Given the description of an element on the screen output the (x, y) to click on. 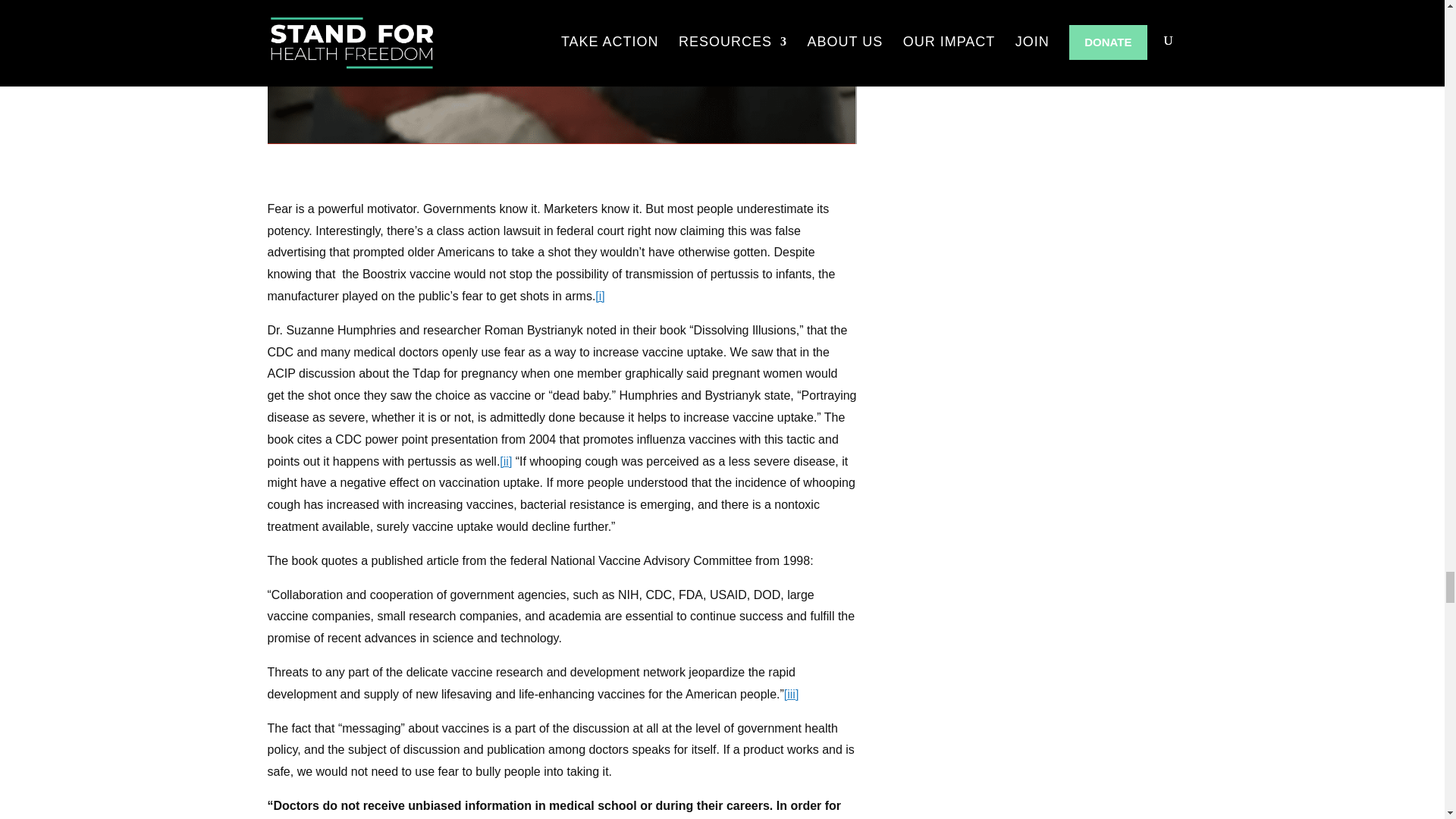
Screenshot 2023-07-19 at 10.21.31 PM (561, 72)
